Given the description of an element on the screen output the (x, y) to click on. 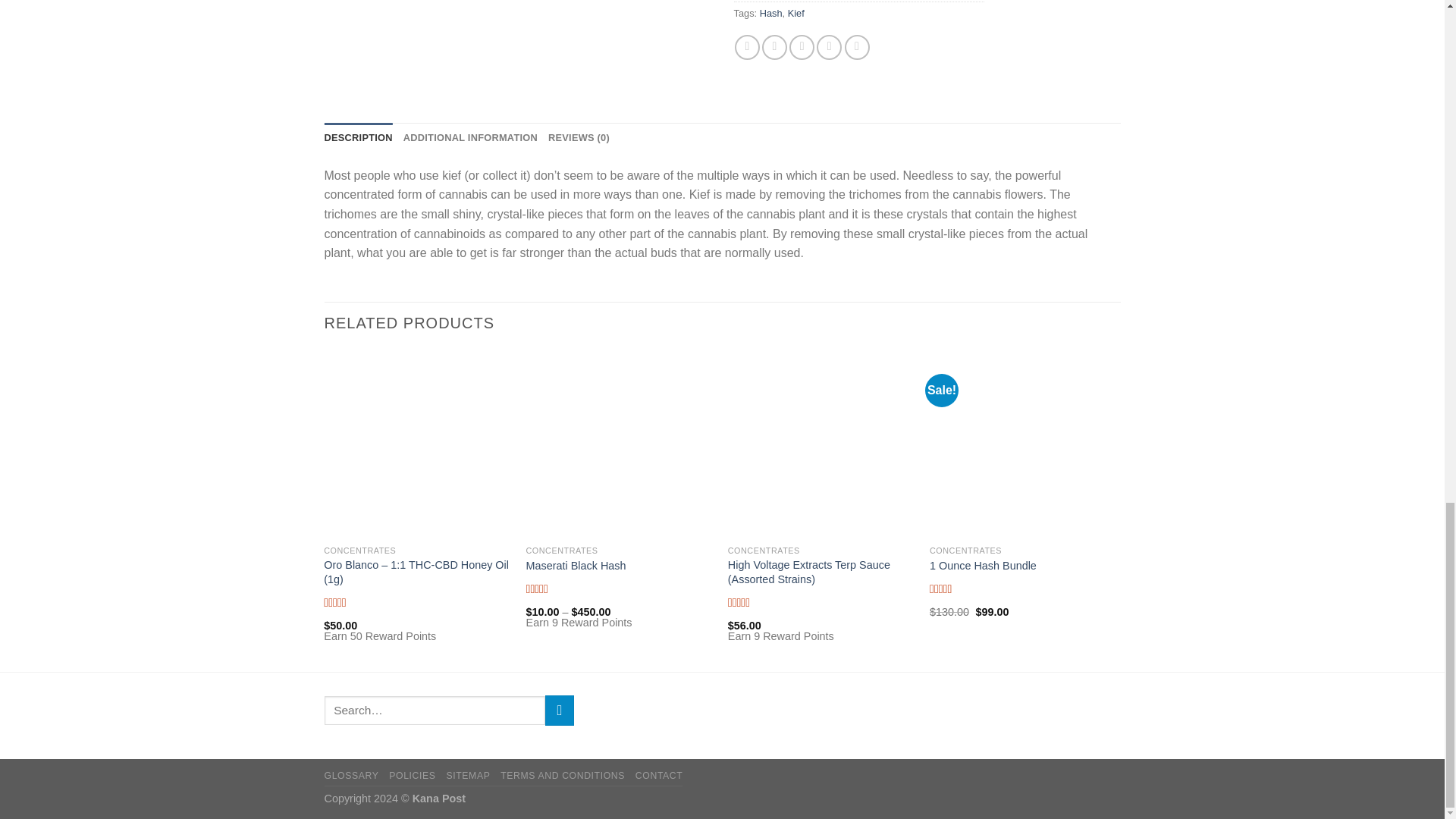
Pin on Pinterest (828, 47)
Email to a Friend (801, 47)
Share on Twitter (774, 47)
Share on Facebook (747, 47)
Share on LinkedIn (856, 47)
